Given the description of an element on the screen output the (x, y) to click on. 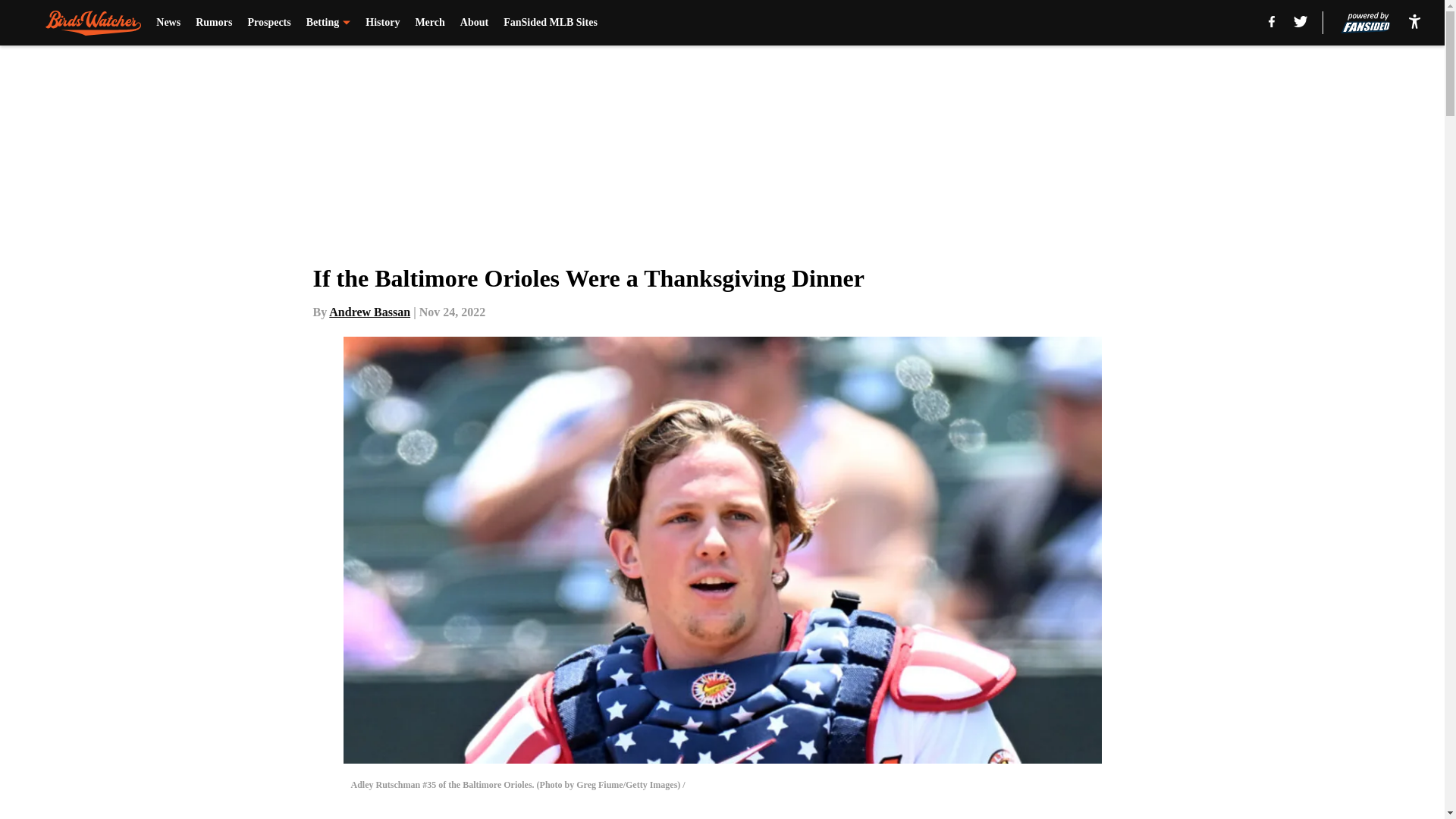
Rumors (213, 22)
FanSided MLB Sites (549, 22)
Merch (429, 22)
History (381, 22)
About (473, 22)
Andrew Bassan (369, 311)
Prospects (268, 22)
News (167, 22)
